Given the description of an element on the screen output the (x, y) to click on. 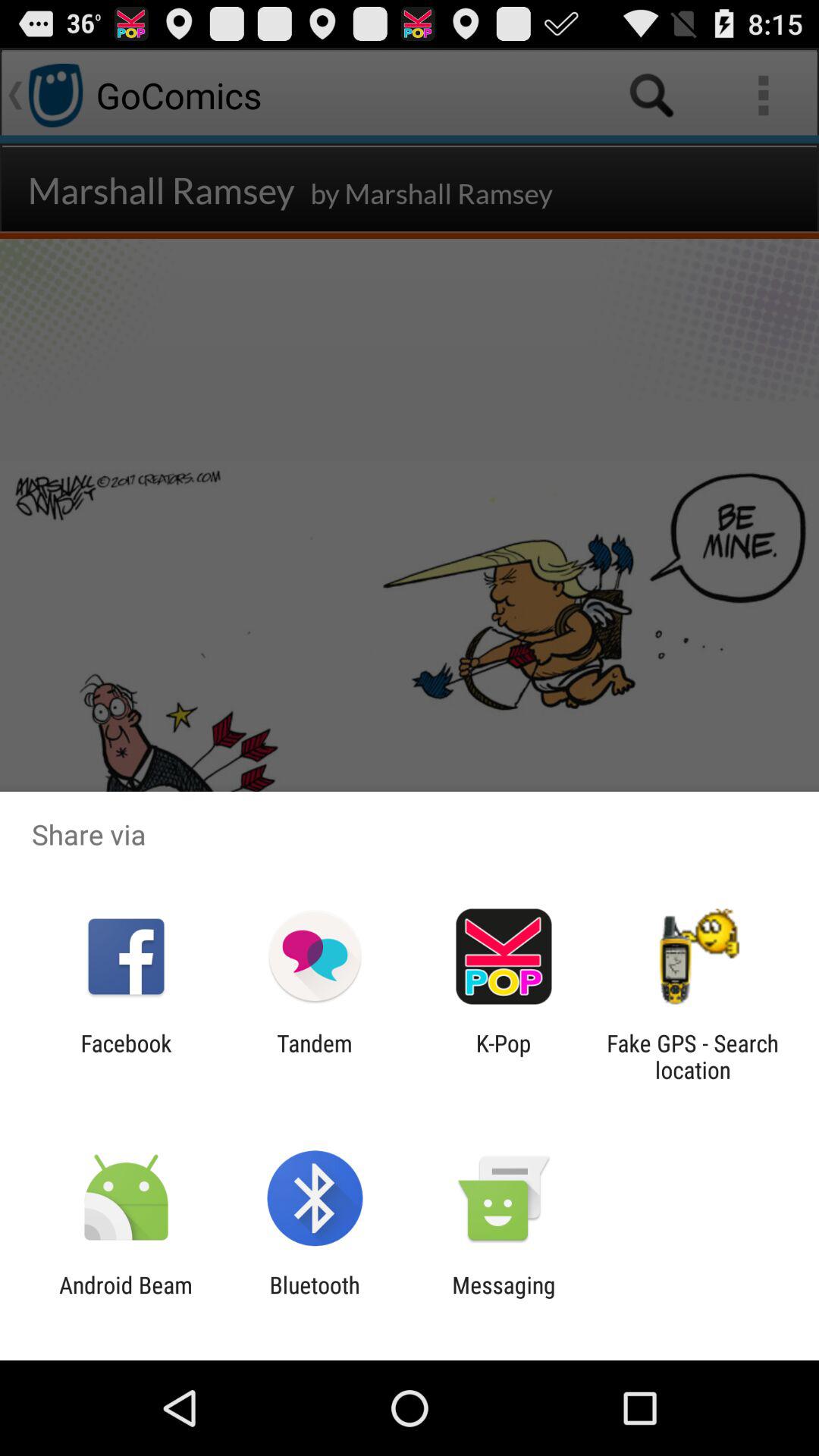
turn on facebook item (125, 1056)
